Given the description of an element on the screen output the (x, y) to click on. 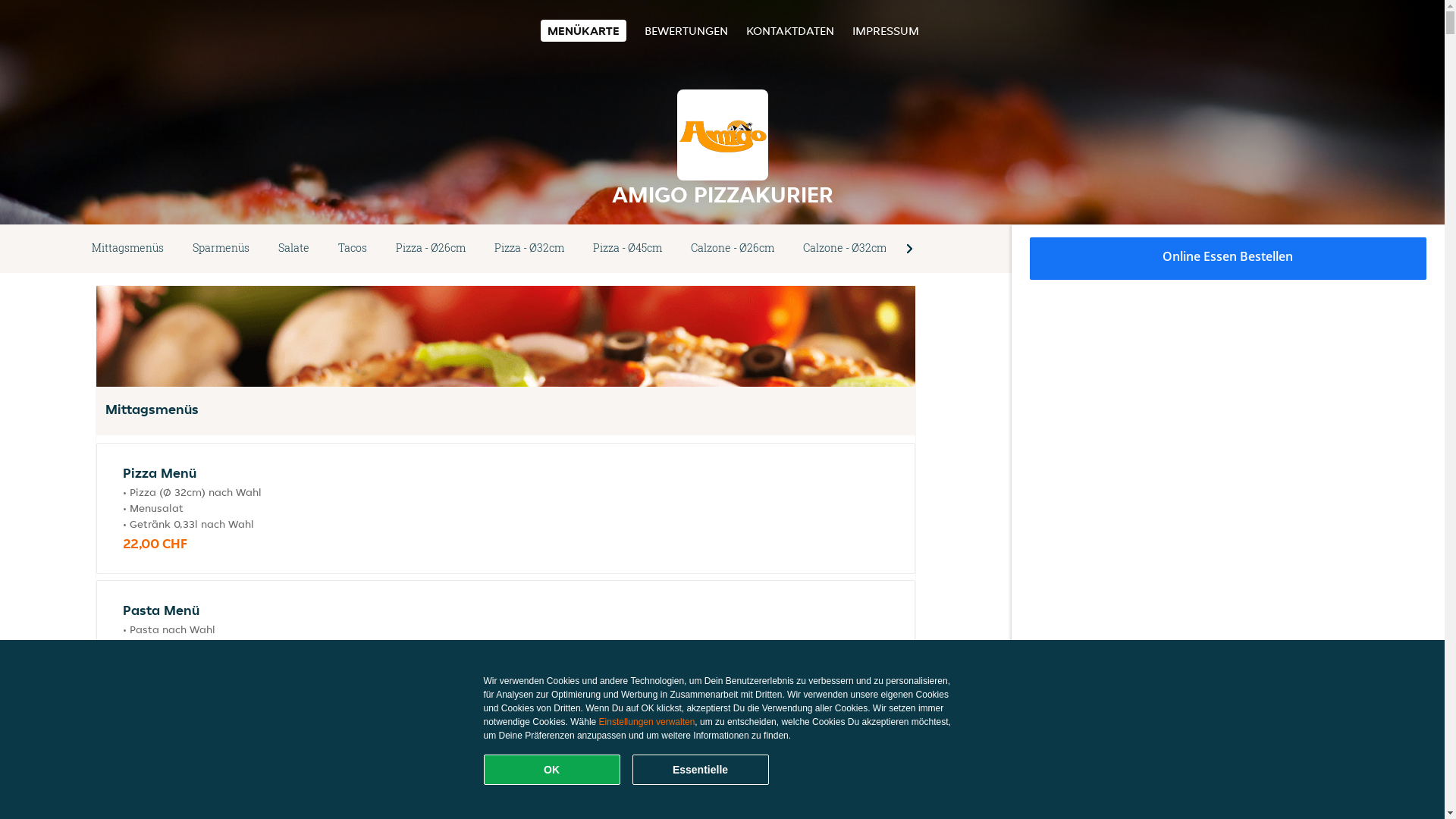
BEWERTUNGEN Element type: text (686, 30)
KONTAKTDATEN Element type: text (790, 30)
IMPRESSUM Element type: text (885, 30)
OK Element type: text (551, 769)
Essentielle Element type: text (700, 769)
Salate Element type: text (293, 248)
Tacos Element type: text (352, 248)
Einstellungen verwalten Element type: text (647, 721)
Online Essen Bestellen Element type: text (1228, 258)
